Given the description of an element on the screen output the (x, y) to click on. 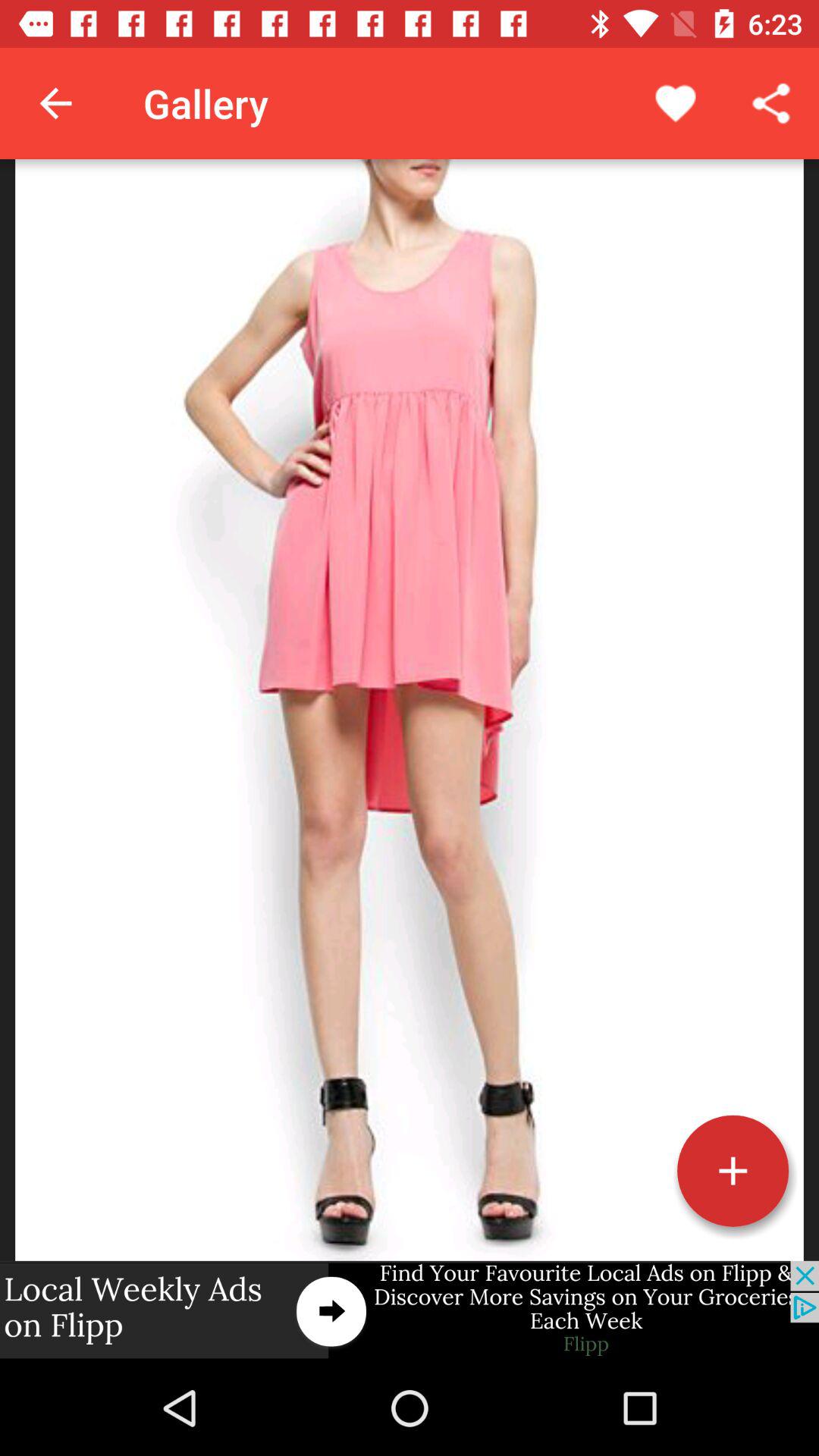
add to cart (733, 1171)
